Given the description of an element on the screen output the (x, y) to click on. 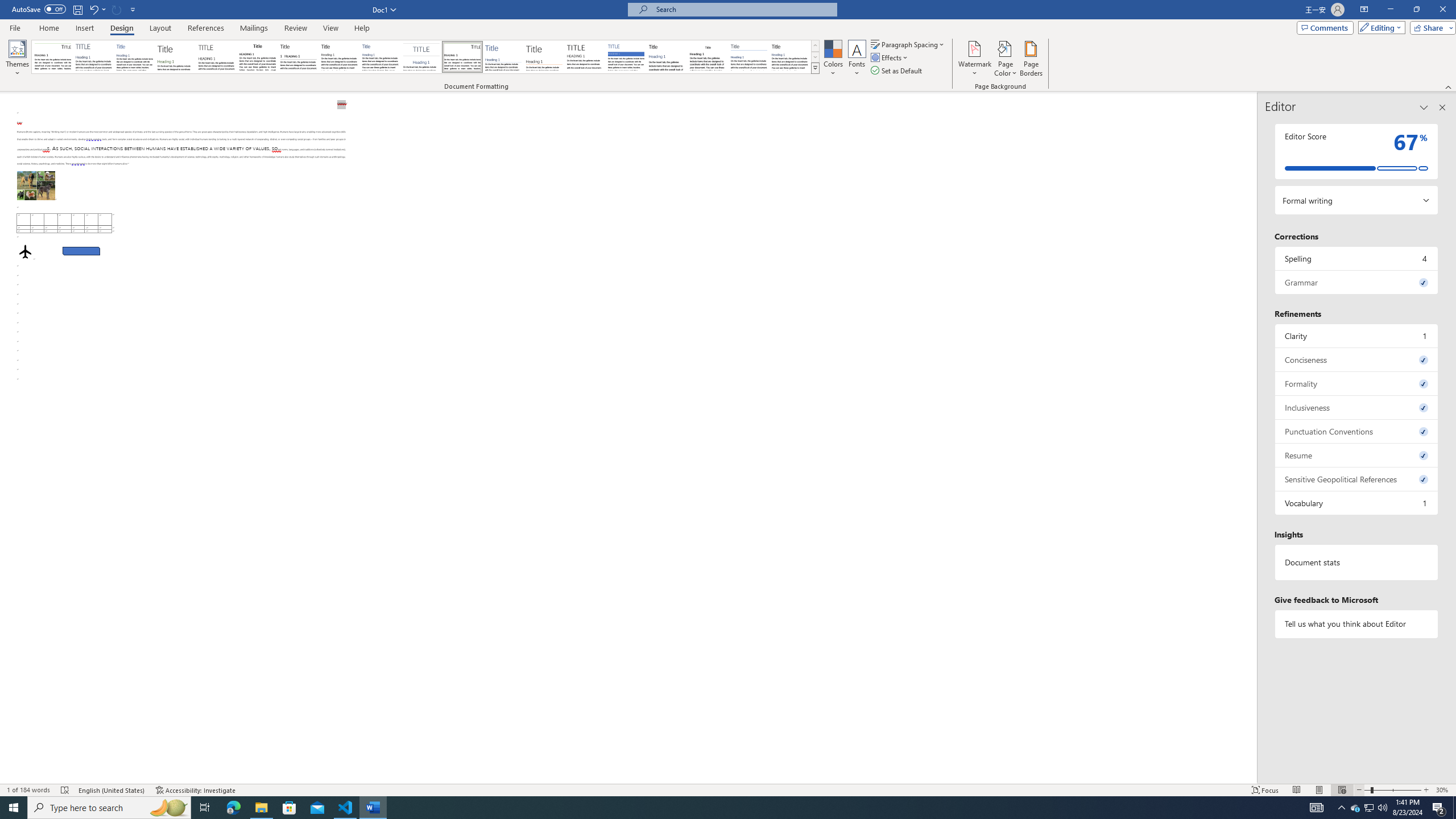
Morphological variation in six dogs (36, 185)
Effects (890, 56)
Black & White (Classic) (257, 56)
Review (295, 28)
Task Pane Options (1423, 107)
AutomationID: QuickStylesSets (425, 56)
Insert (83, 28)
Zoom In (1426, 790)
Rectangle: Diagonal Corners Snipped 2 (81, 250)
Casual (379, 56)
Watermark (974, 58)
Row Down (814, 56)
